Given the description of an element on the screen output the (x, y) to click on. 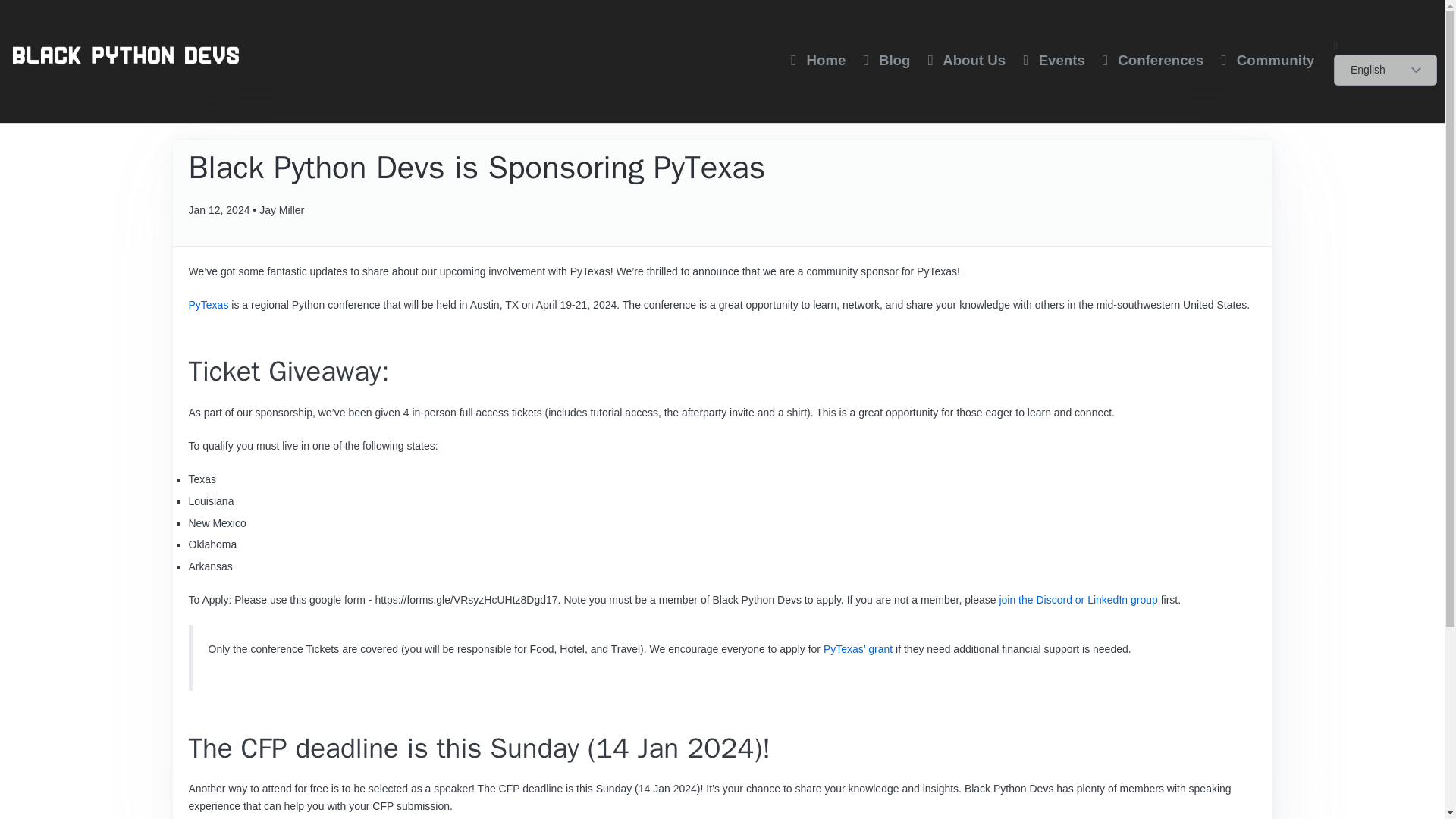
 Conferences (1150, 60)
 Home (814, 60)
 Events (1050, 60)
 Community (1264, 60)
PyTexas (207, 304)
join the Discord or LinkedIn group (1077, 599)
 Blog (883, 60)
 About Us (963, 60)
